Given the description of an element on the screen output the (x, y) to click on. 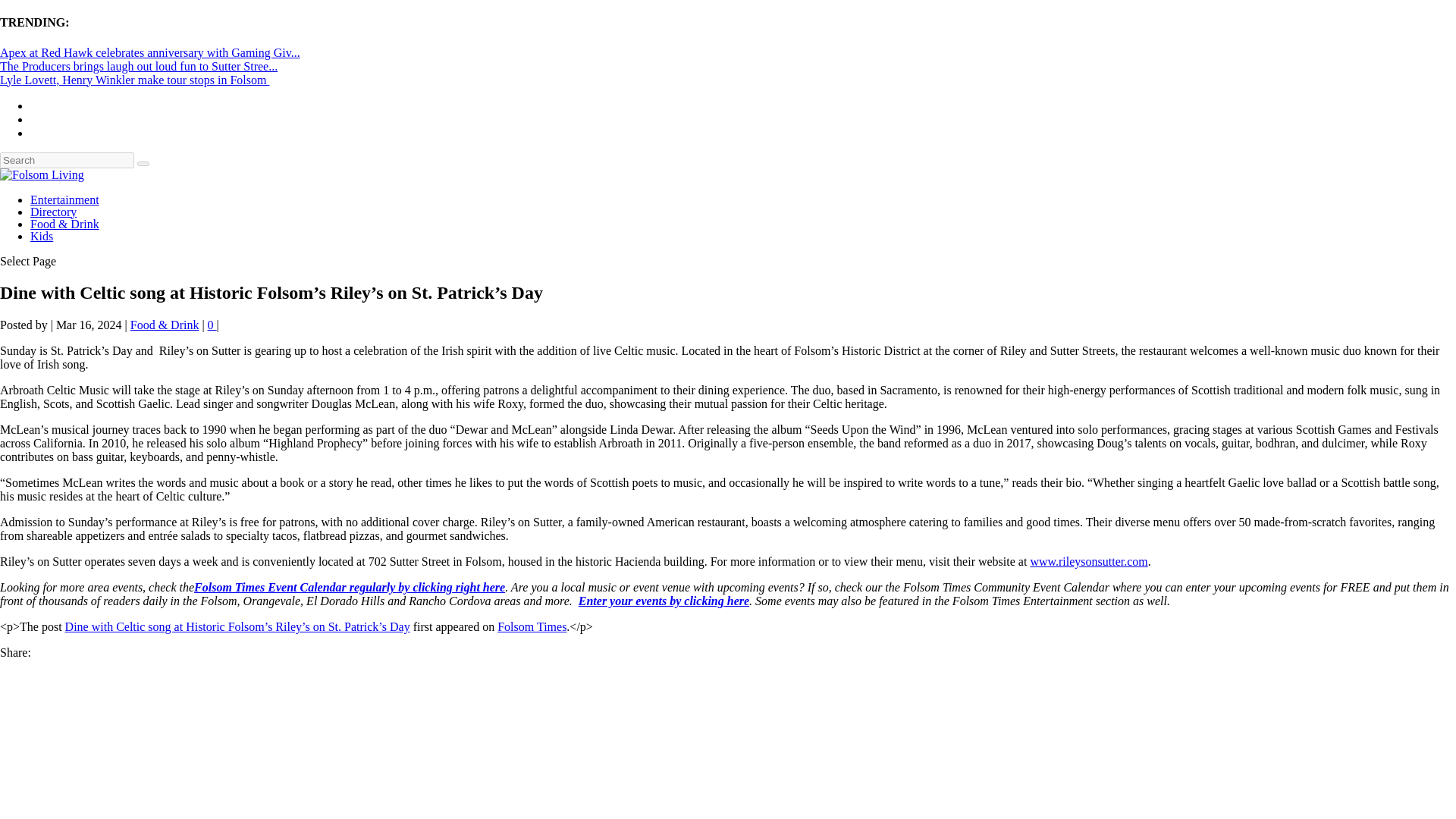
www.rileysonsutter.com (1088, 561)
Folsom Times (531, 626)
Lyle Lovett, Henry Winkler make tour stops in Folsom  (134, 79)
Folsom Times Event Calendar regularly by clicking right here (349, 586)
Kids (41, 236)
Apex at Red Hawk celebrates anniversary with Gaming Giv... (149, 51)
Entertainment (64, 199)
Enter your events by clicking here (663, 600)
The Producers brings laugh out loud fun to Sutter Stree... (139, 65)
Search for: (66, 160)
